Given the description of an element on the screen output the (x, y) to click on. 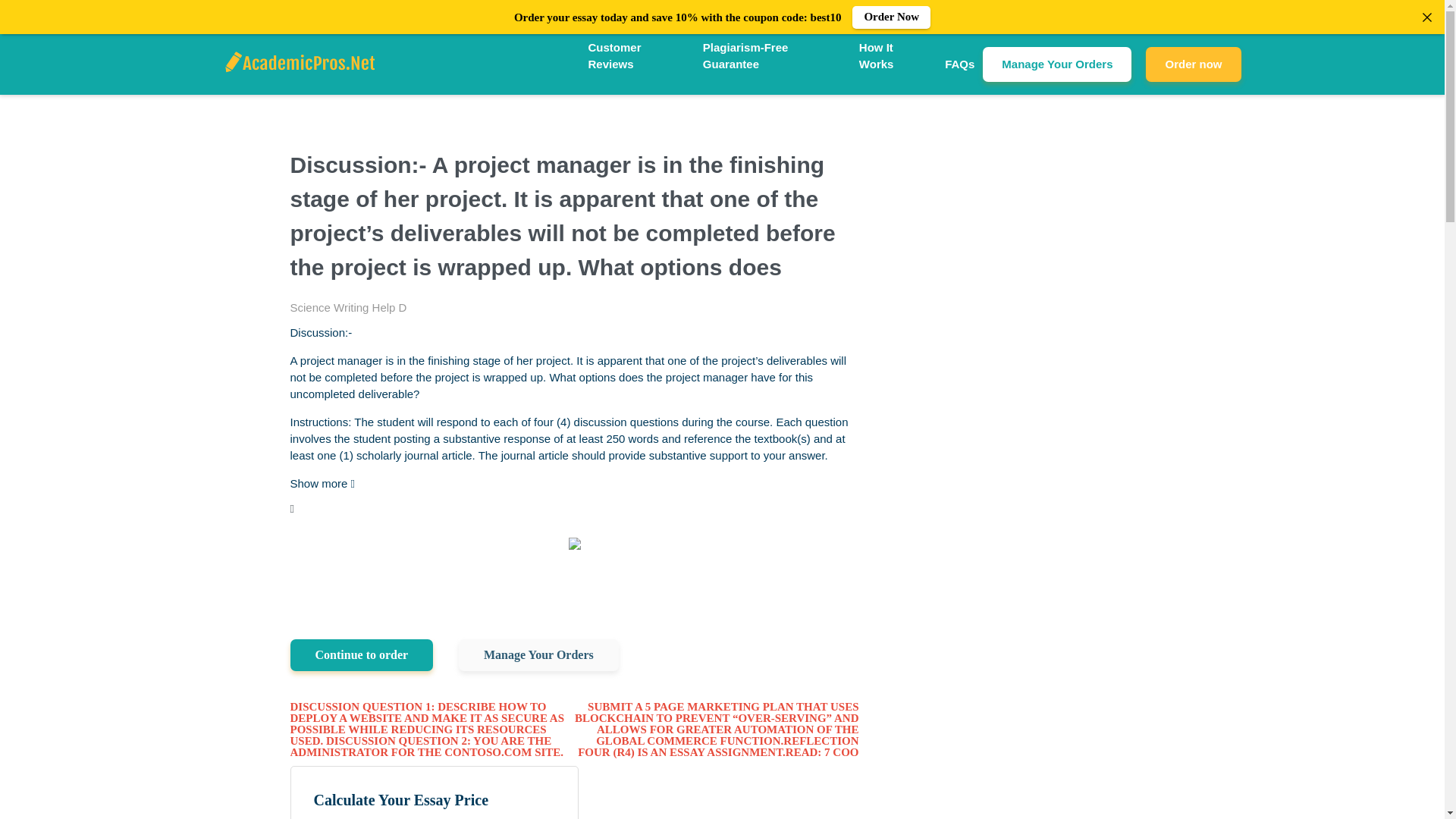
How It Works (893, 56)
Customer Reviews (636, 56)
Order Now (890, 16)
Manage Your Orders (538, 654)
FAQs (959, 64)
Order now (1192, 63)
Continue to order (360, 654)
Plagiarism-Free Guarantee (773, 56)
Manage Your Orders (1056, 63)
Science Writing Help D (347, 307)
